Given the description of an element on the screen output the (x, y) to click on. 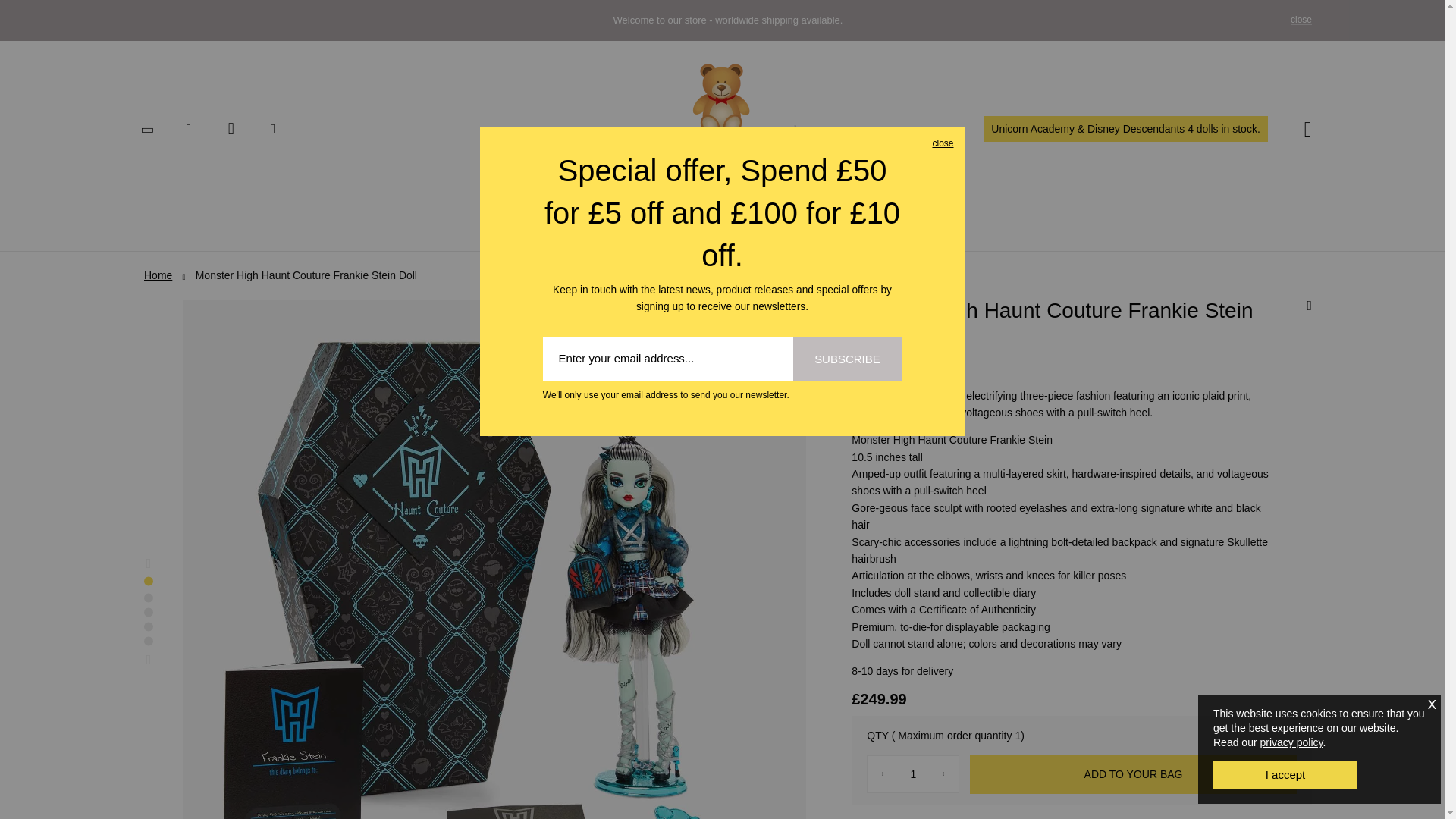
1 (913, 773)
